Given the description of an element on the screen output the (x, y) to click on. 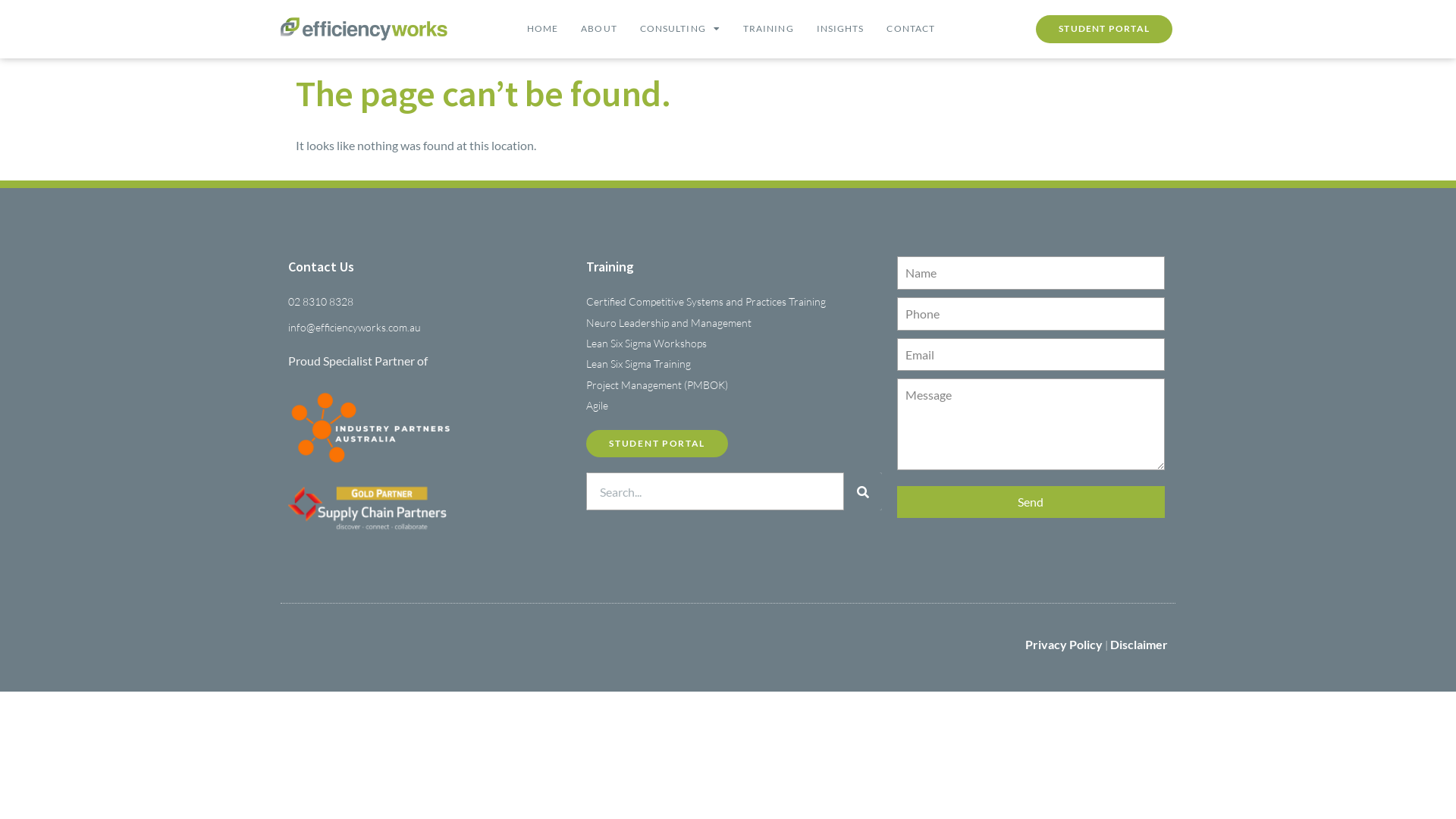
STUDENT PORTAL Element type: text (657, 443)
Lean Six Sigma Workshops Element type: text (733, 343)
CONSULTING Element type: text (680, 28)
TRAINING Element type: text (768, 28)
Project Management (PMBOK) Element type: text (733, 384)
Lean Six Sigma Training Element type: text (733, 363)
INSIGHTS Element type: text (840, 28)
Agile Element type: text (733, 405)
ABOUT Element type: text (598, 28)
Privacy Policy Element type: text (1063, 644)
STUDENT PORTAL Element type: text (1103, 29)
Send Element type: text (1030, 501)
HOME Element type: text (542, 28)
Disclaimer Element type: text (1138, 644)
Neuro Leadership and Management Element type: text (733, 322)
CONTACT Element type: text (910, 28)
info@efficiencyworks.com.au Element type: text (429, 327)
Certified Competitive Systems and Practices Training Element type: text (733, 301)
